Given the description of an element on the screen output the (x, y) to click on. 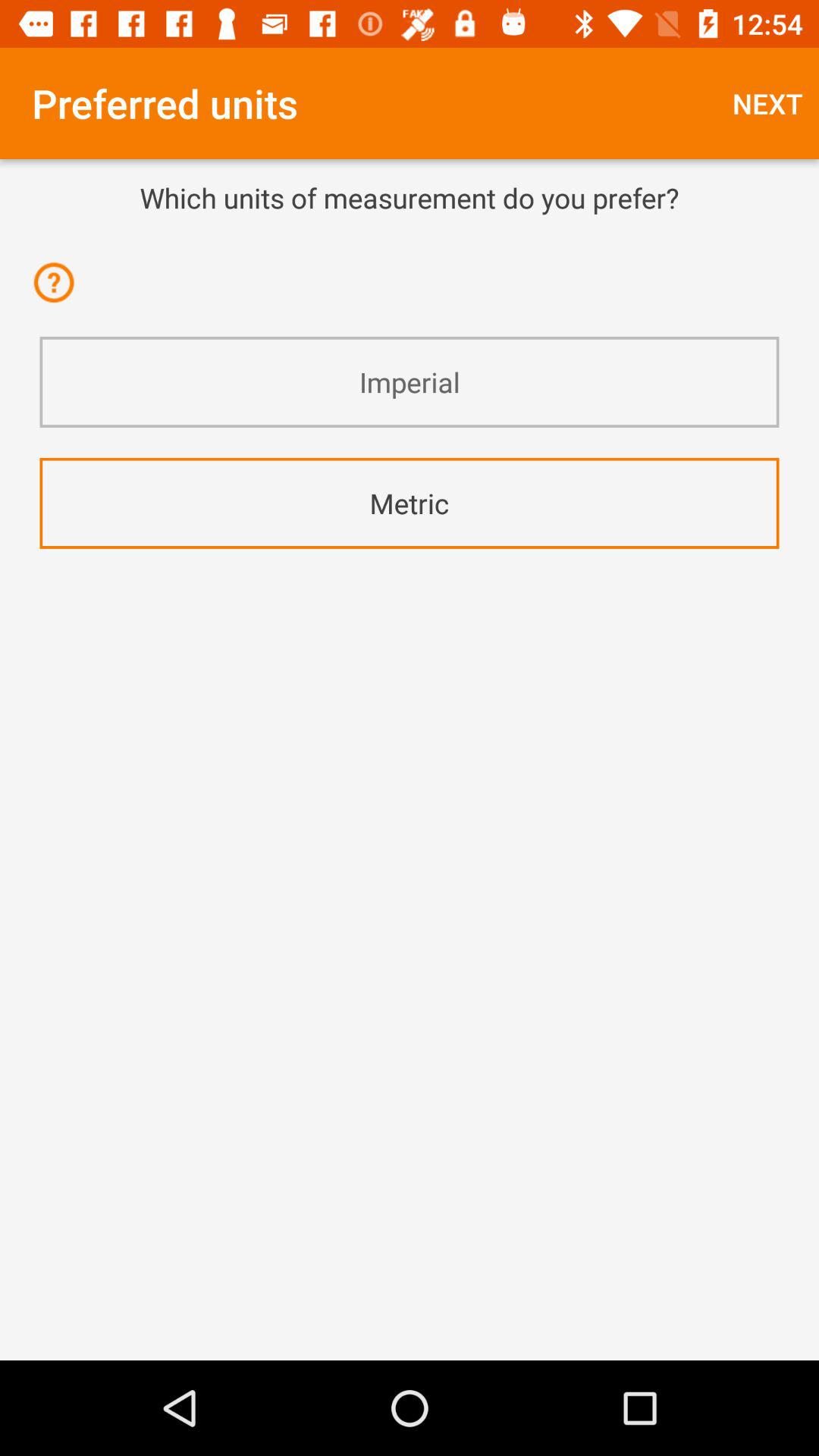
press item below which units of (409, 237)
